Given the description of an element on the screen output the (x, y) to click on. 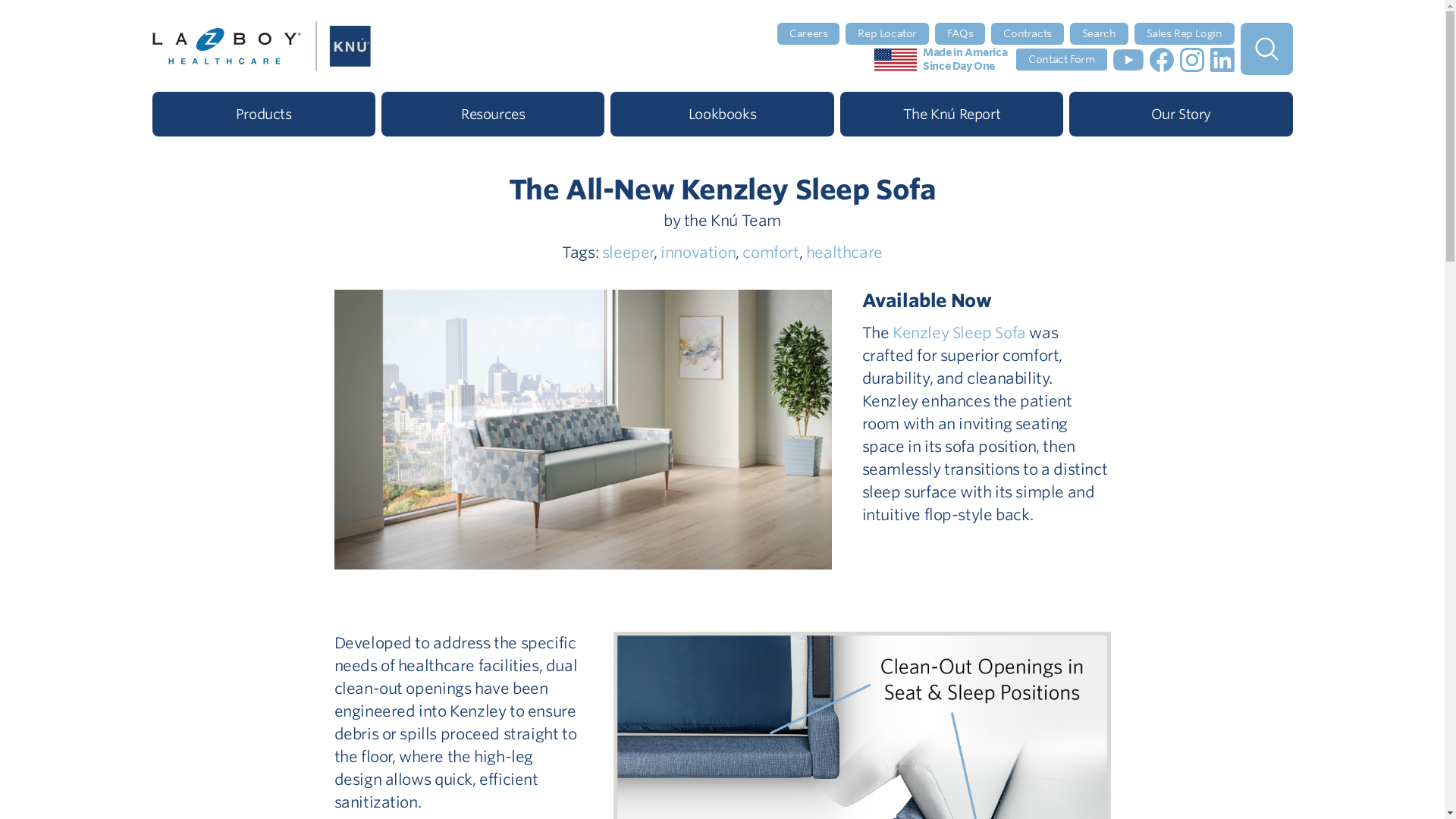
Search (1099, 33)
FAQs (959, 33)
Contracts (1026, 33)
Contact Form (1061, 59)
Careers (808, 33)
Rep Locator (886, 33)
Sales Rep Login (1184, 33)
sleeper Tag (627, 252)
innovation Tag (698, 252)
comfort Tag (769, 252)
Products (262, 113)
healthcare Tag (844, 252)
